Given the description of an element on the screen output the (x, y) to click on. 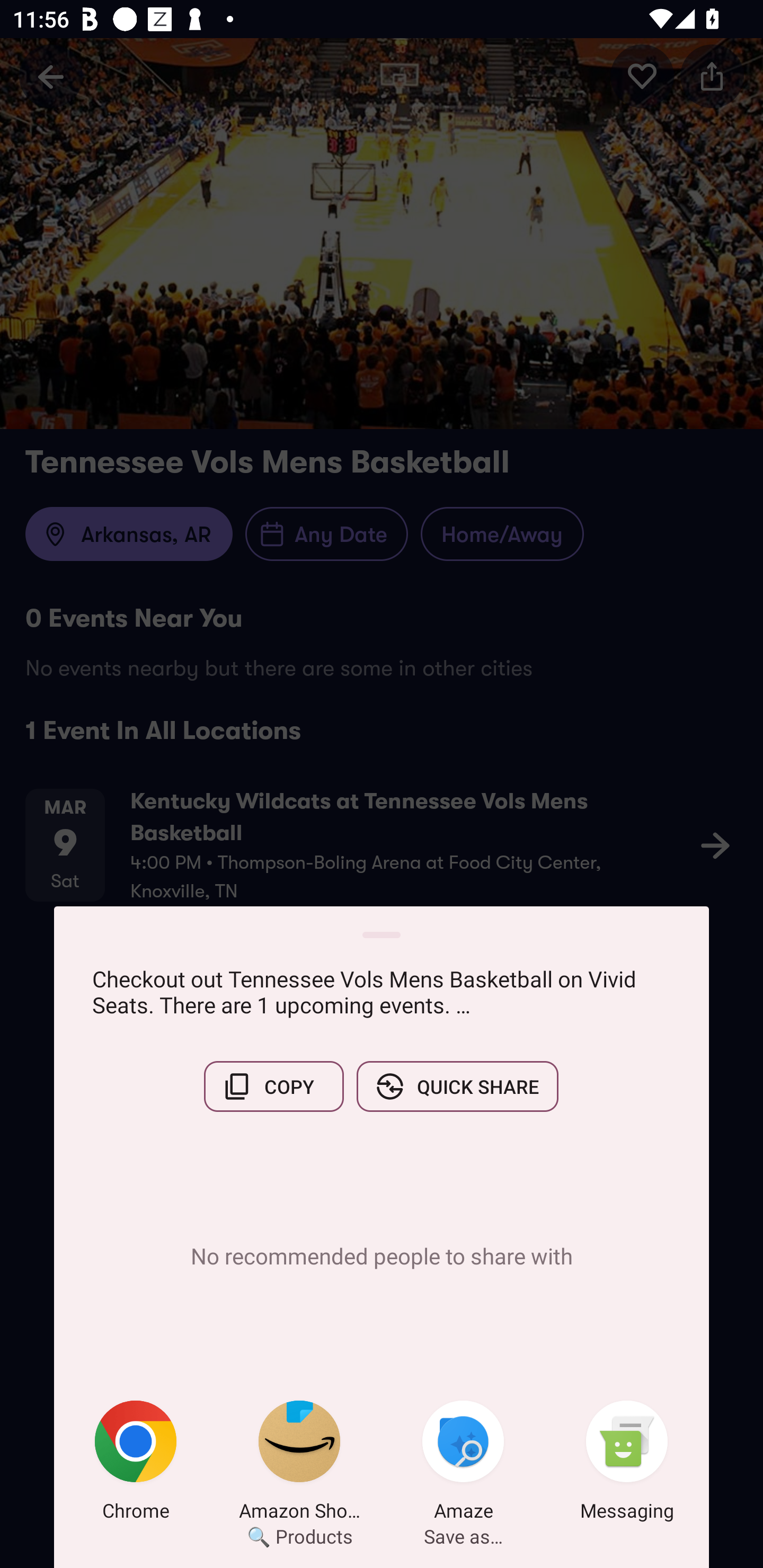
COPY (273, 1086)
QUICK SHARE (457, 1086)
Chrome (135, 1463)
Amazon Shopping 🔍 Products (299, 1463)
Amaze Save as… (463, 1463)
Messaging (626, 1463)
